Given the description of an element on the screen output the (x, y) to click on. 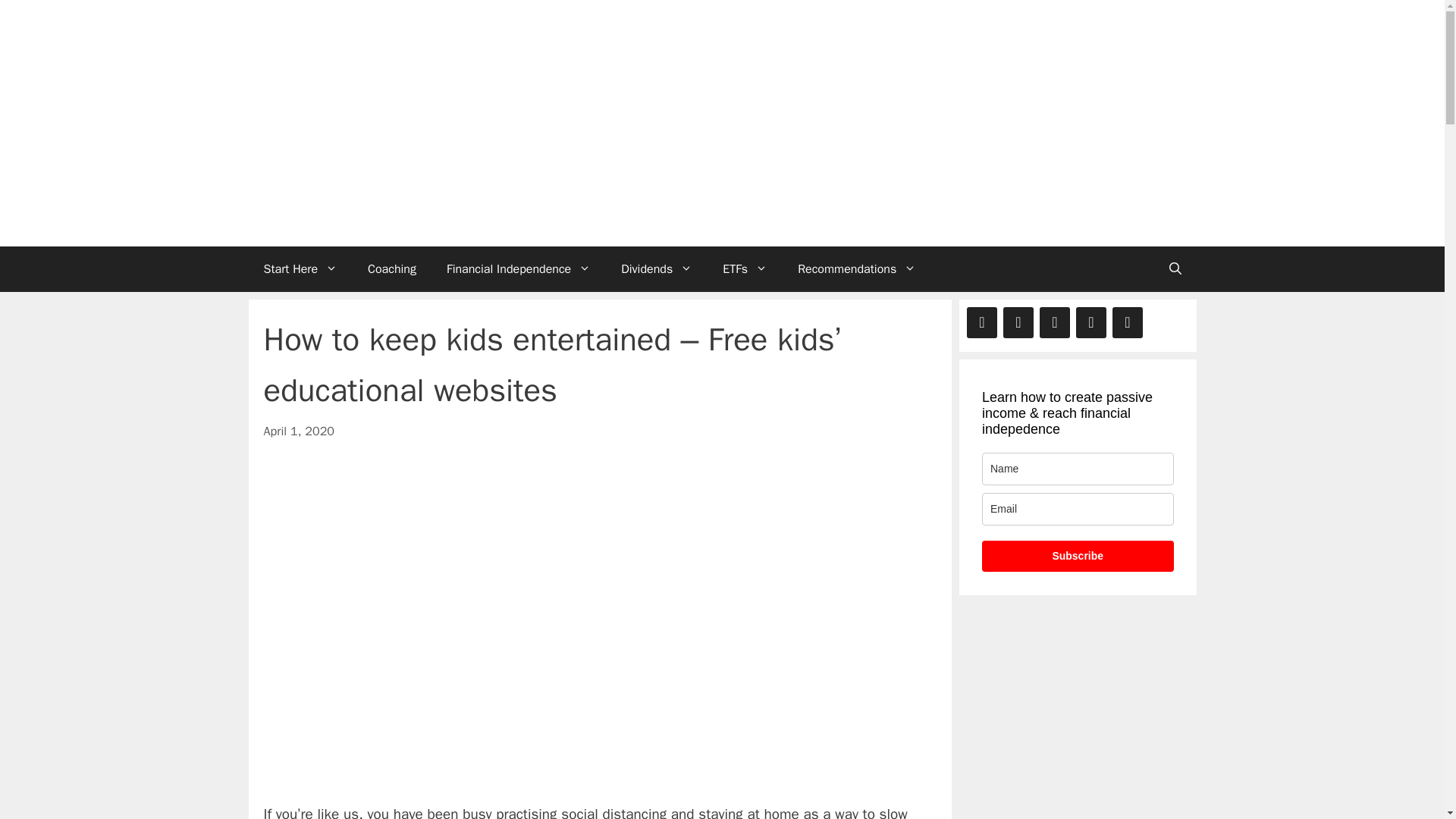
Dividends (656, 268)
Financial Independence (517, 268)
Recommendations (857, 268)
Twitter (1018, 322)
Facebook (981, 322)
